Given the description of an element on the screen output the (x, y) to click on. 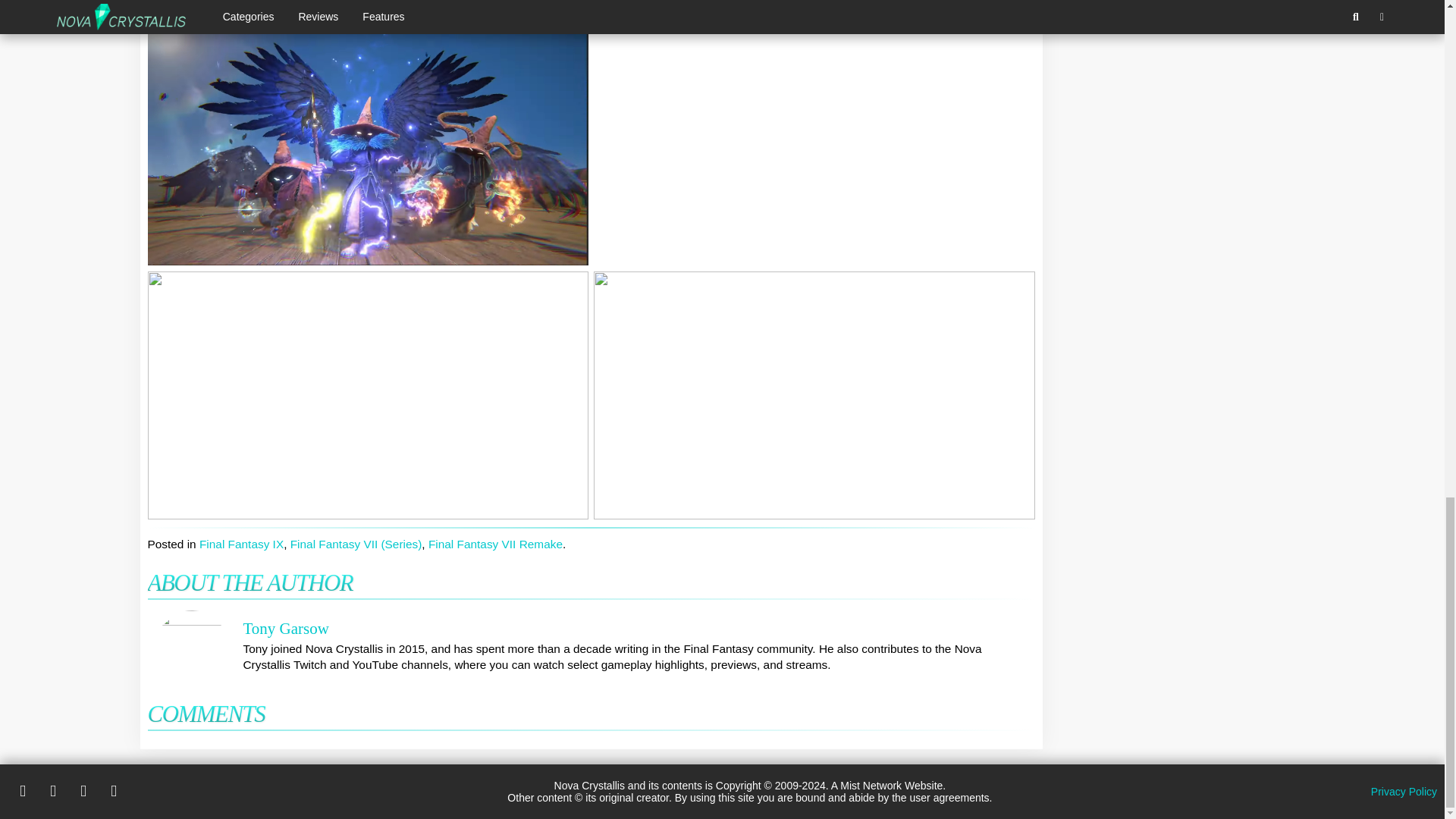
Final Fantasy VII Remake (495, 543)
Final Fantasy IX (241, 543)
